Given the description of an element on the screen output the (x, y) to click on. 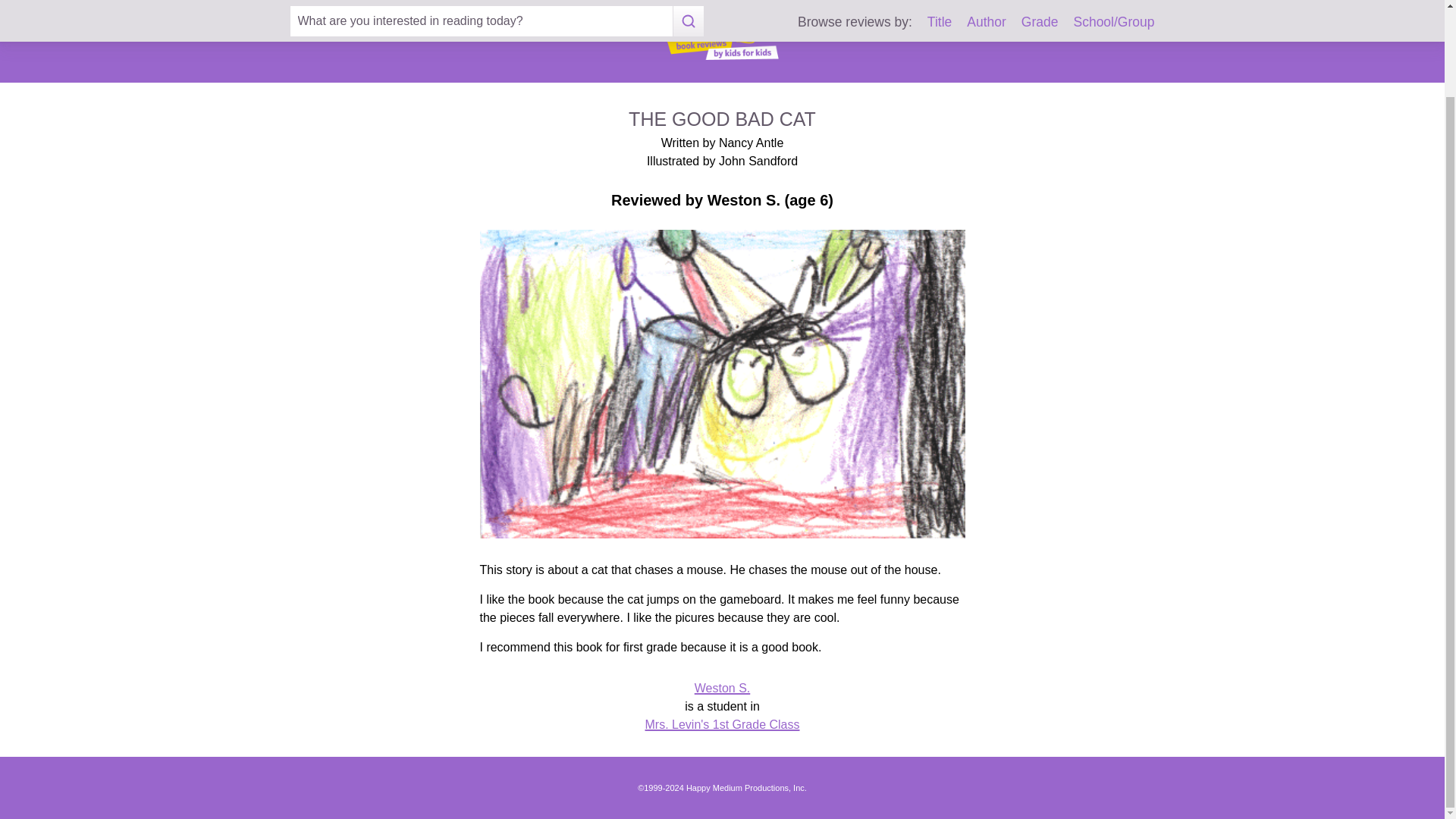
Mrs. Levin's 1st Grade Class (722, 724)
Weston S. (722, 687)
